Given the description of an element on the screen output the (x, y) to click on. 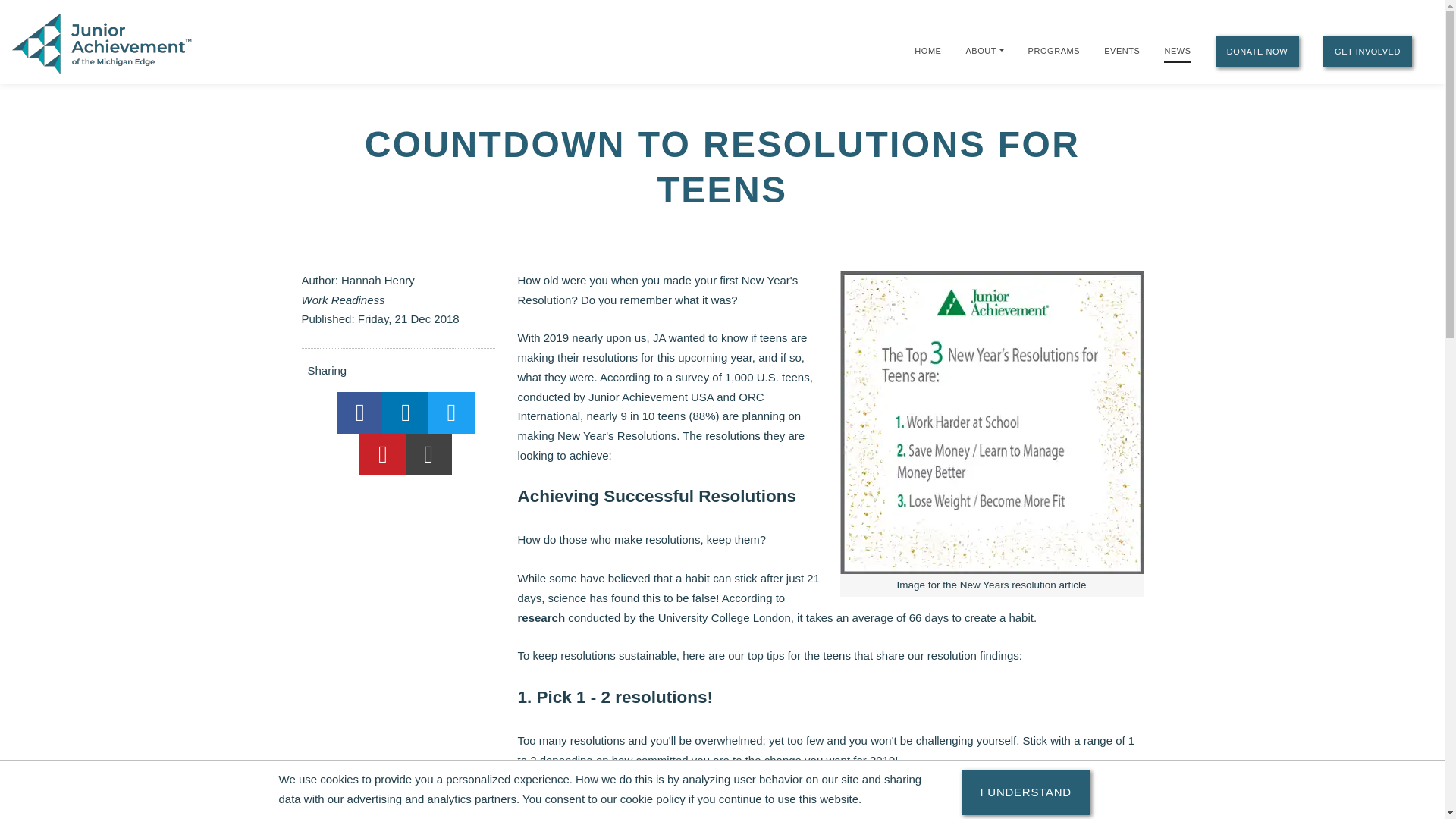
Go to Donate Now page (1256, 51)
Go to Events page (1121, 50)
Go to About page (980, 50)
DONATE NOW (1256, 51)
Go to Programs page (1053, 50)
NEWS (1177, 51)
Go to News page (1177, 51)
research (540, 617)
PROGRAMS (1053, 50)
EVENTS (1121, 50)
